Given the description of an element on the screen output the (x, y) to click on. 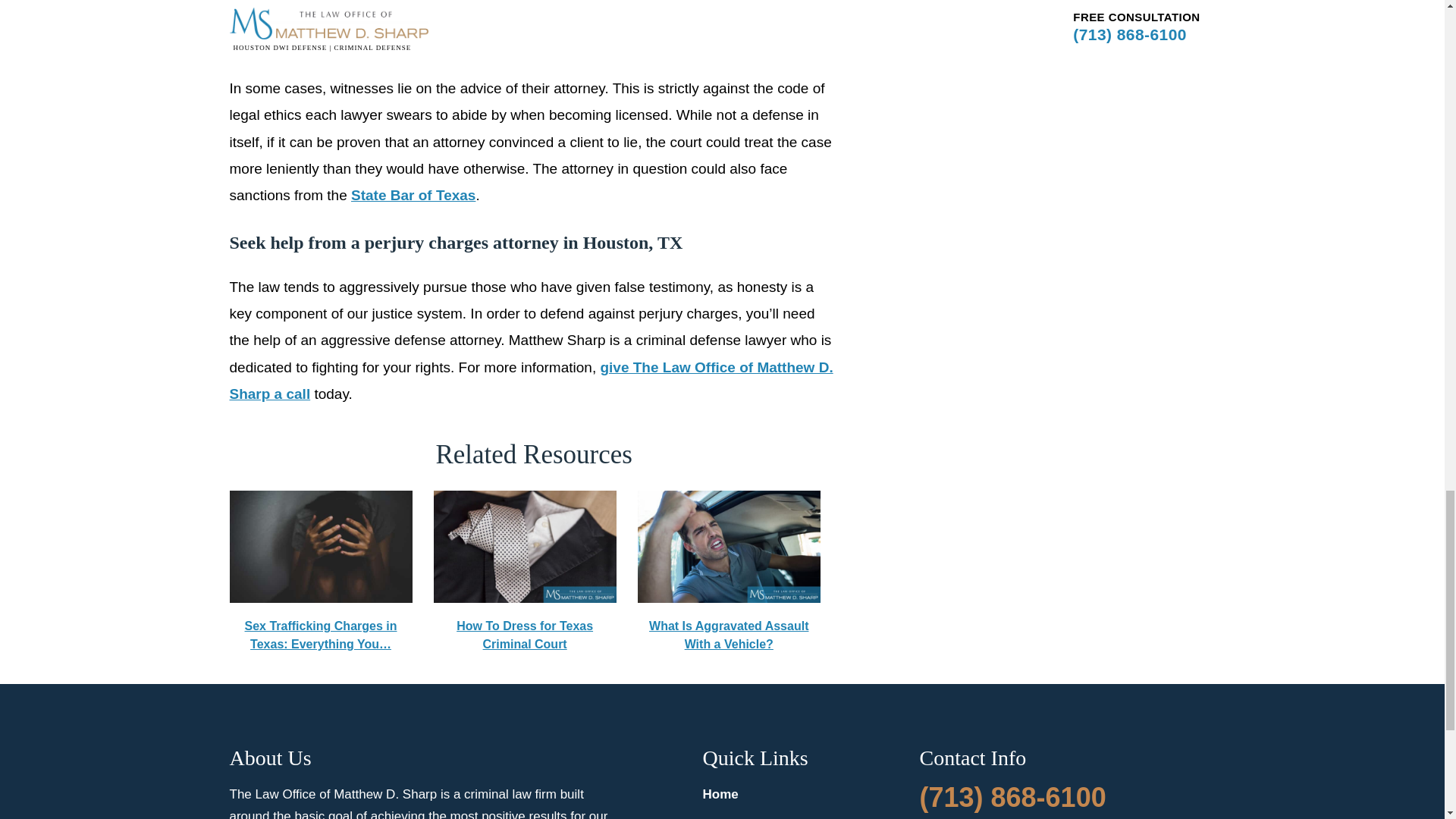
What Is Aggravated Assault With a Vehicle? (729, 571)
What Is Aggravated Assault With a Vehicle? (729, 546)
How To Dress for Texas Criminal Court (524, 546)
State Bar of Texas (413, 195)
How To Dress for Texas Criminal Court (524, 571)
give The Law Office of Matthew D. Sharp a call (530, 380)
